Given the description of an element on the screen output the (x, y) to click on. 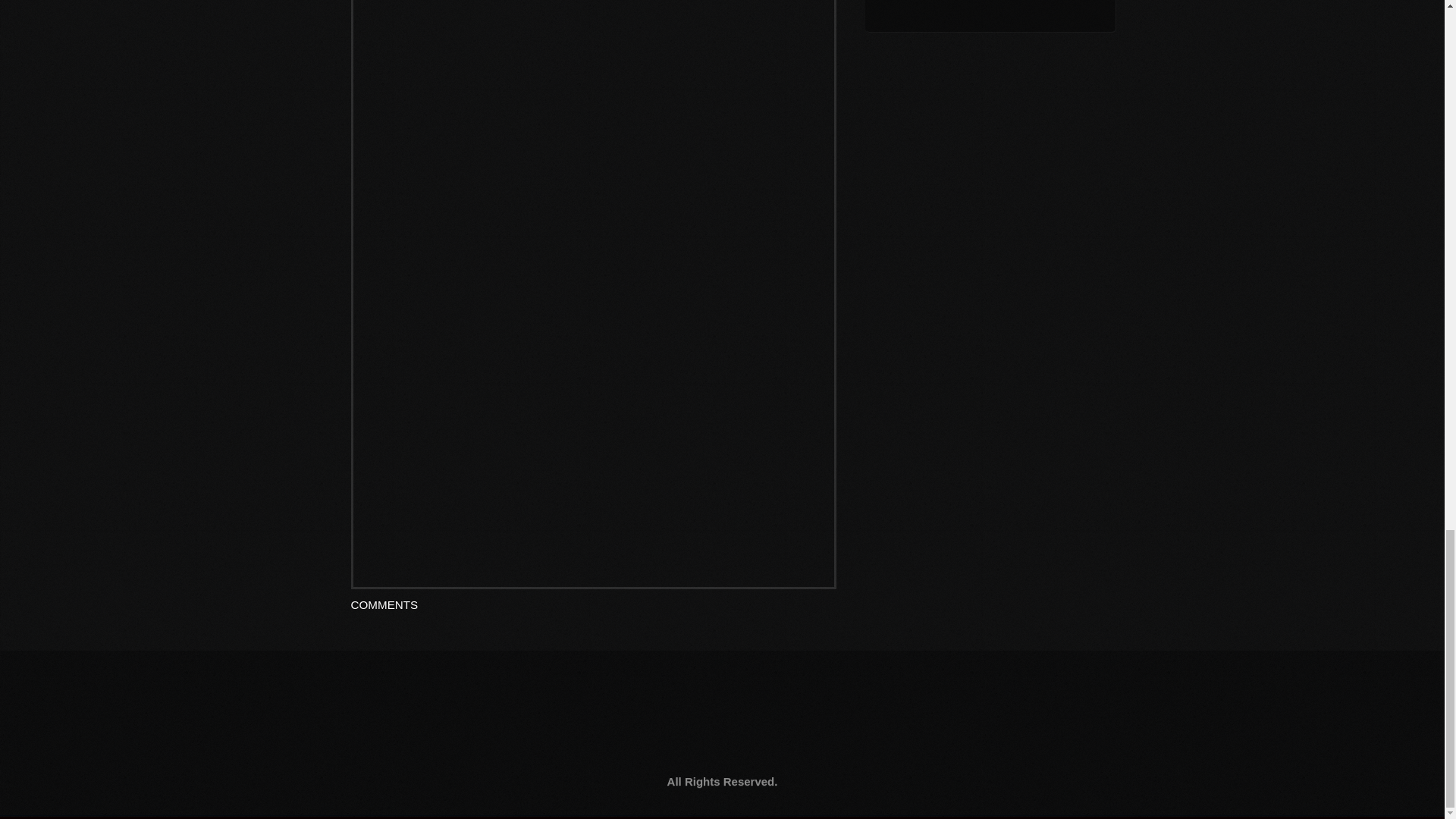
instagram (710, 739)
facebook (508, 739)
soundcloud (938, 739)
youtube (611, 739)
twitter (826, 739)
